Given the description of an element on the screen output the (x, y) to click on. 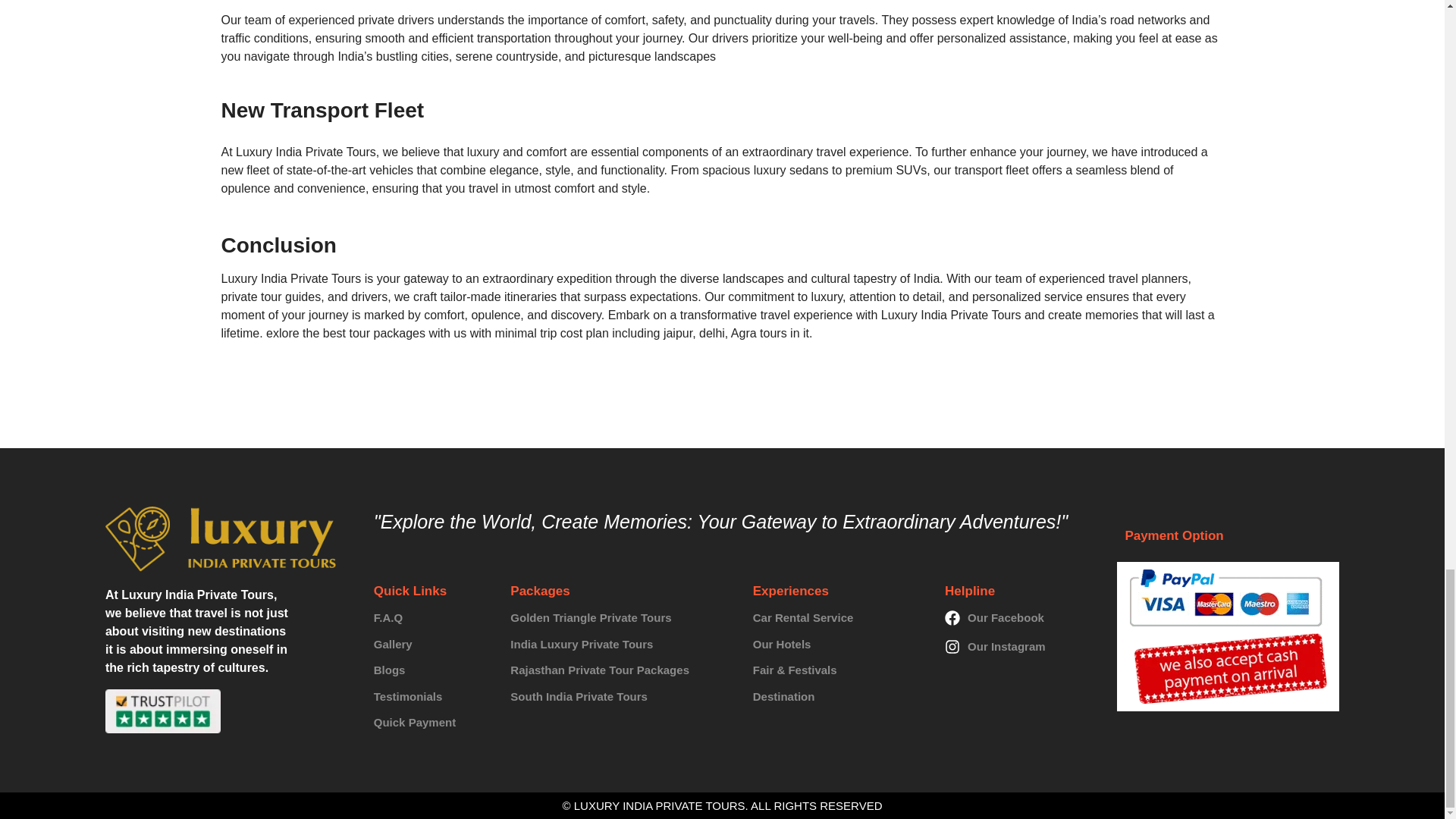
Testimonials (430, 696)
India Luxury Private Tours (620, 643)
F.A.Q (430, 618)
Rajasthan Private Tour Packages (620, 670)
Gallery (430, 643)
Blogs (430, 670)
South India Private Tours (620, 696)
Car Rental Service (836, 618)
Quick Payment (430, 723)
Golden Triangle Private Tours (620, 618)
